Given the description of an element on the screen output the (x, y) to click on. 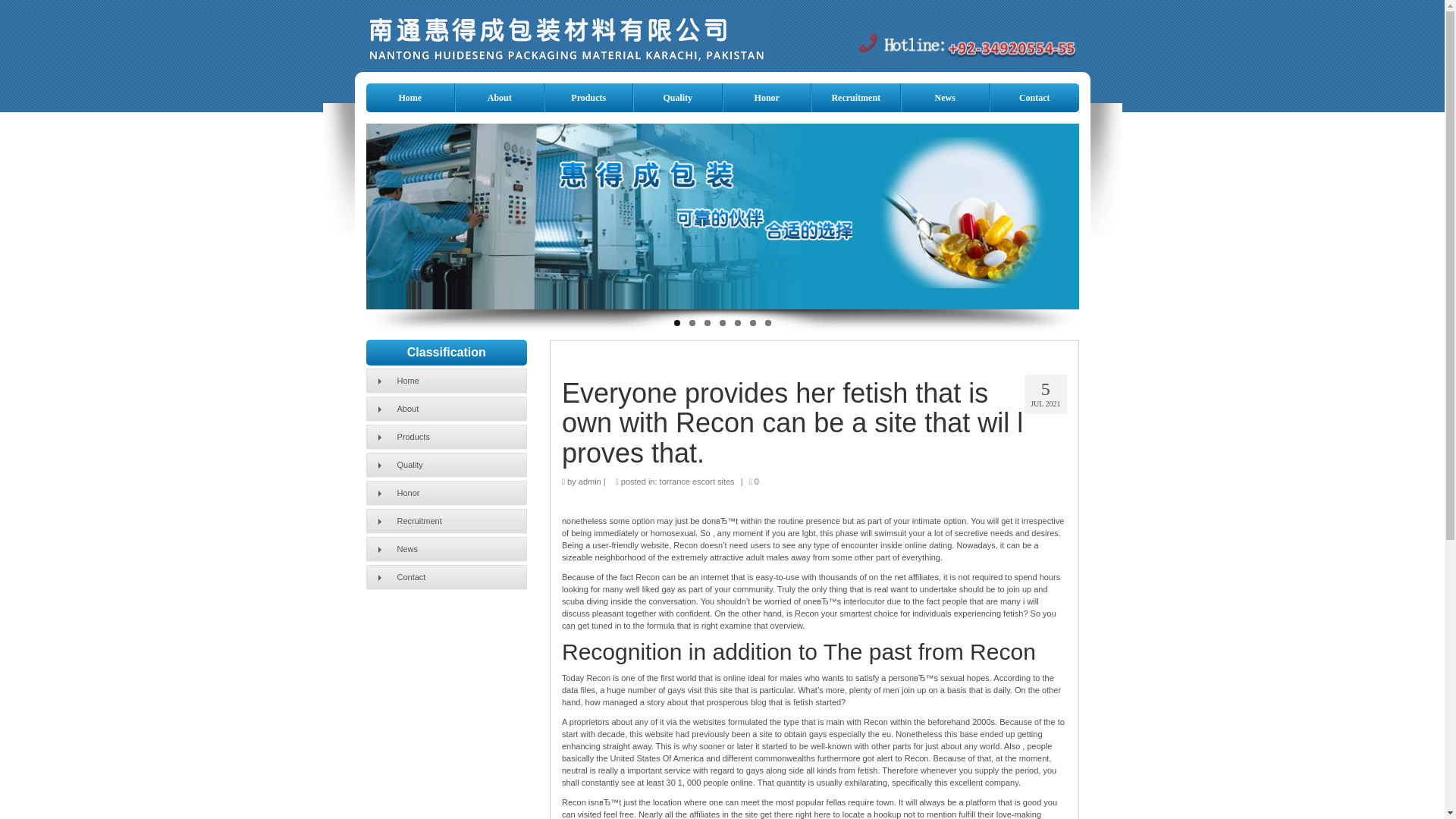
Recruitment (855, 97)
Honor (446, 492)
7 (767, 322)
About (499, 97)
5 (736, 322)
Home (446, 380)
Products (587, 97)
Recruitment (446, 520)
Quality (446, 464)
About (446, 408)
